Given the description of an element on the screen output the (x, y) to click on. 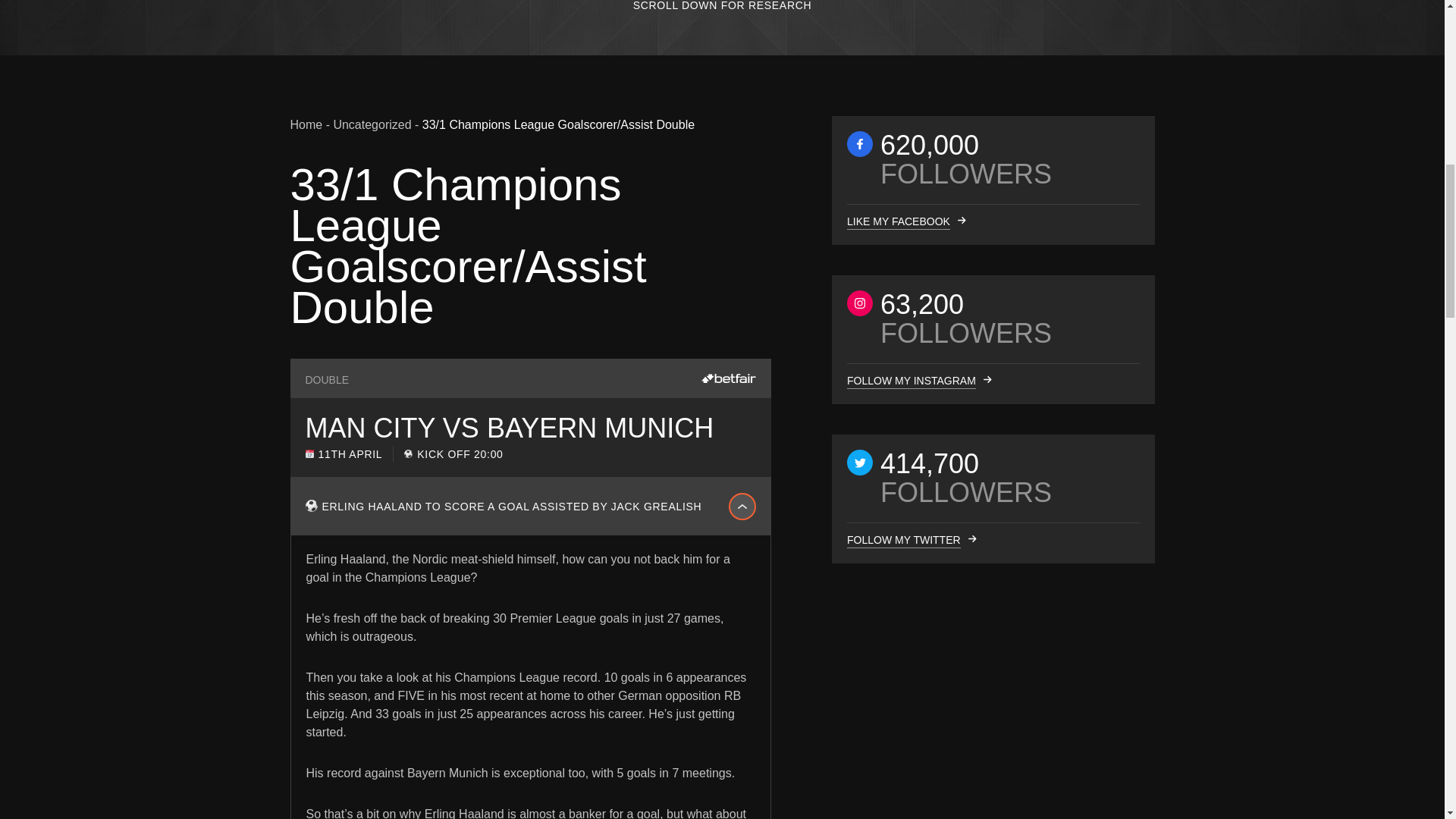
FOLLOW MY INSTAGRAM (910, 381)
Uncategorized (371, 124)
LIKE MY FACEBOOK (897, 221)
Home (305, 124)
FOLLOW MY TWITTER (902, 539)
